Given the description of an element on the screen output the (x, y) to click on. 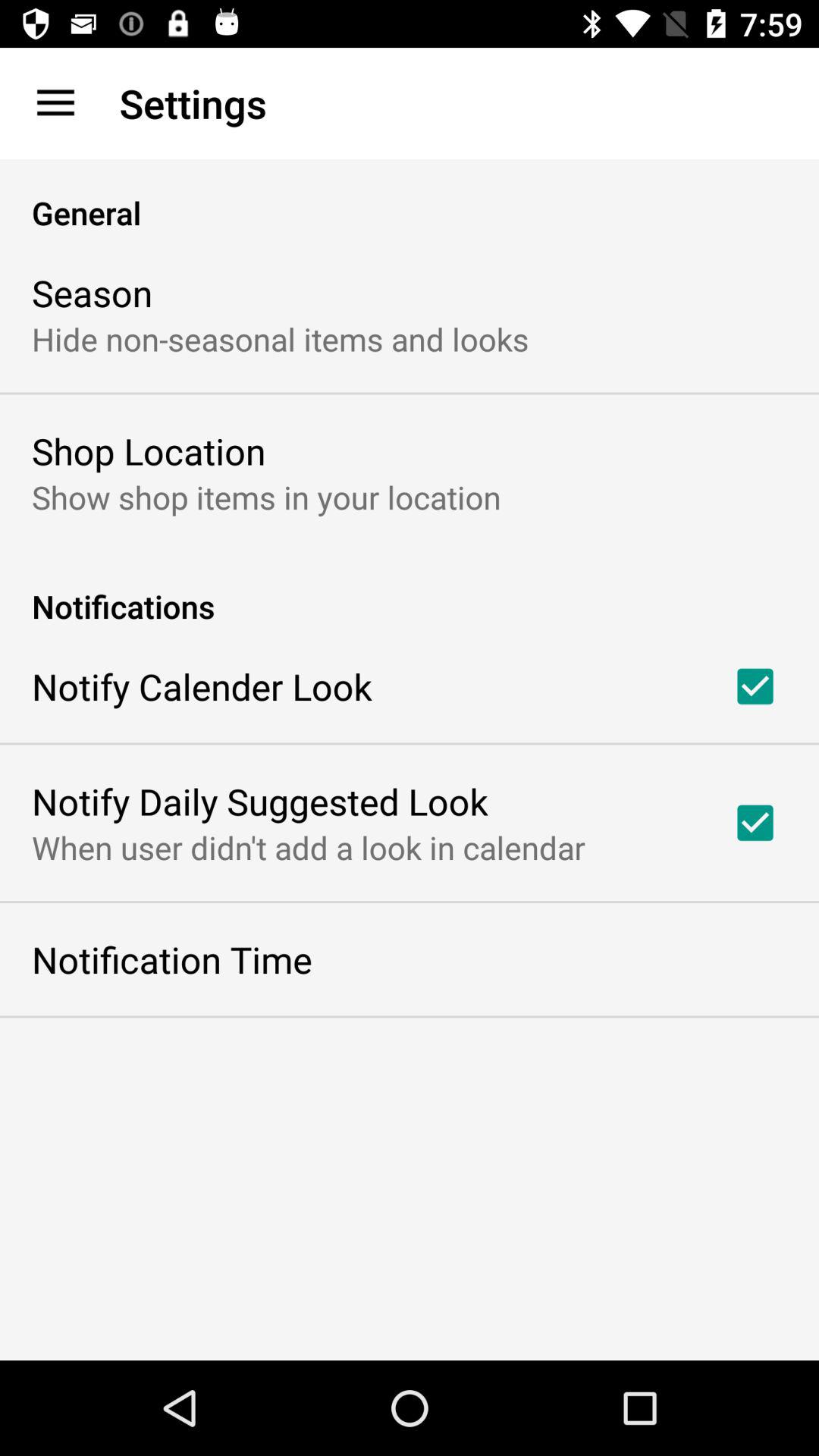
tap the general item (409, 196)
